Given the description of an element on the screen output the (x, y) to click on. 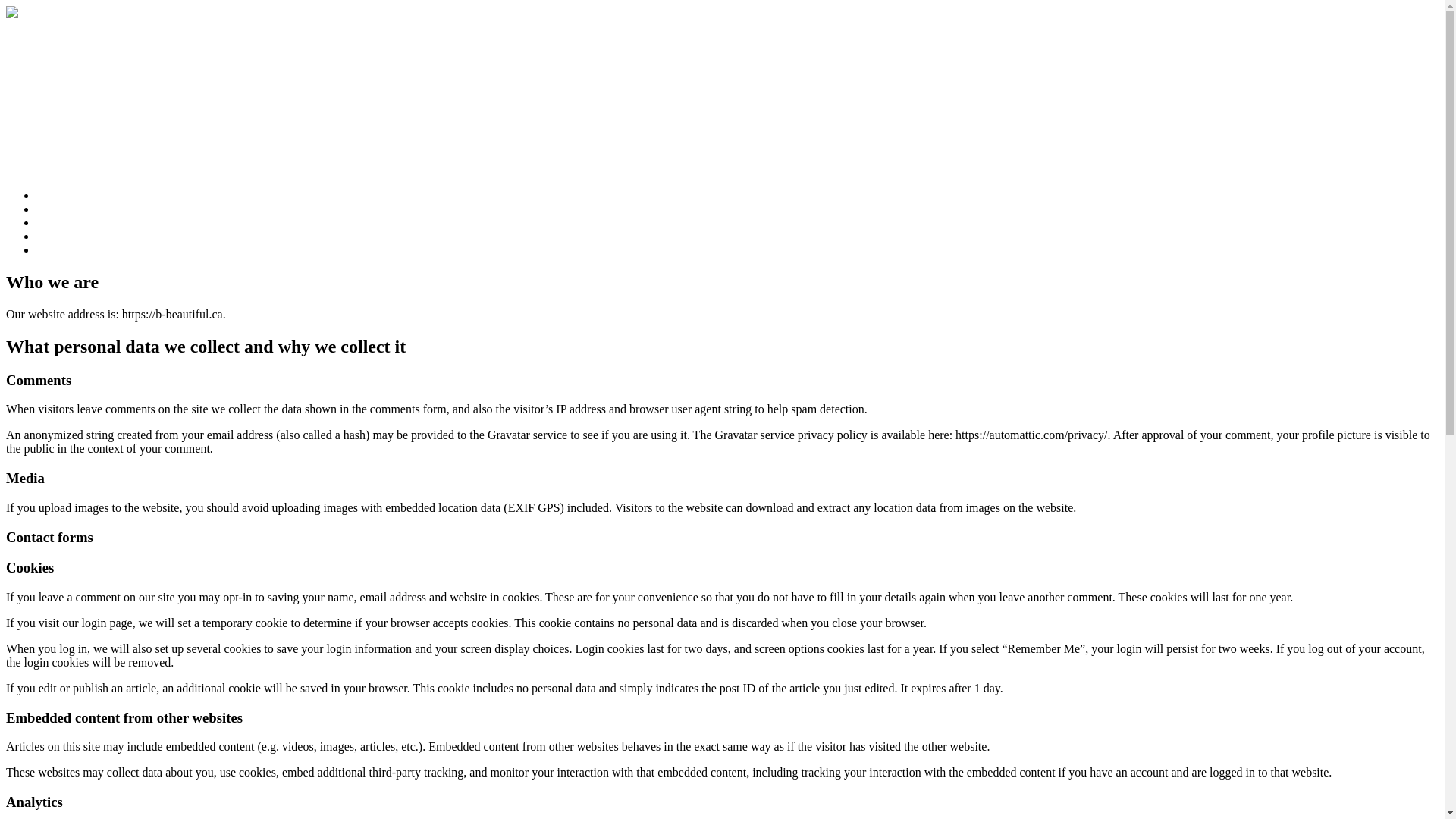
CONTACTS Element type: text (67, 249)
GALLERY Element type: text (64, 235)
HOME Element type: text (54, 194)
PRICE LIST Element type: text (67, 222)
Be Beautiful Aesthetics Element type: text (75, 42)
ABOUT Element type: text (57, 208)
